Given the description of an element on the screen output the (x, y) to click on. 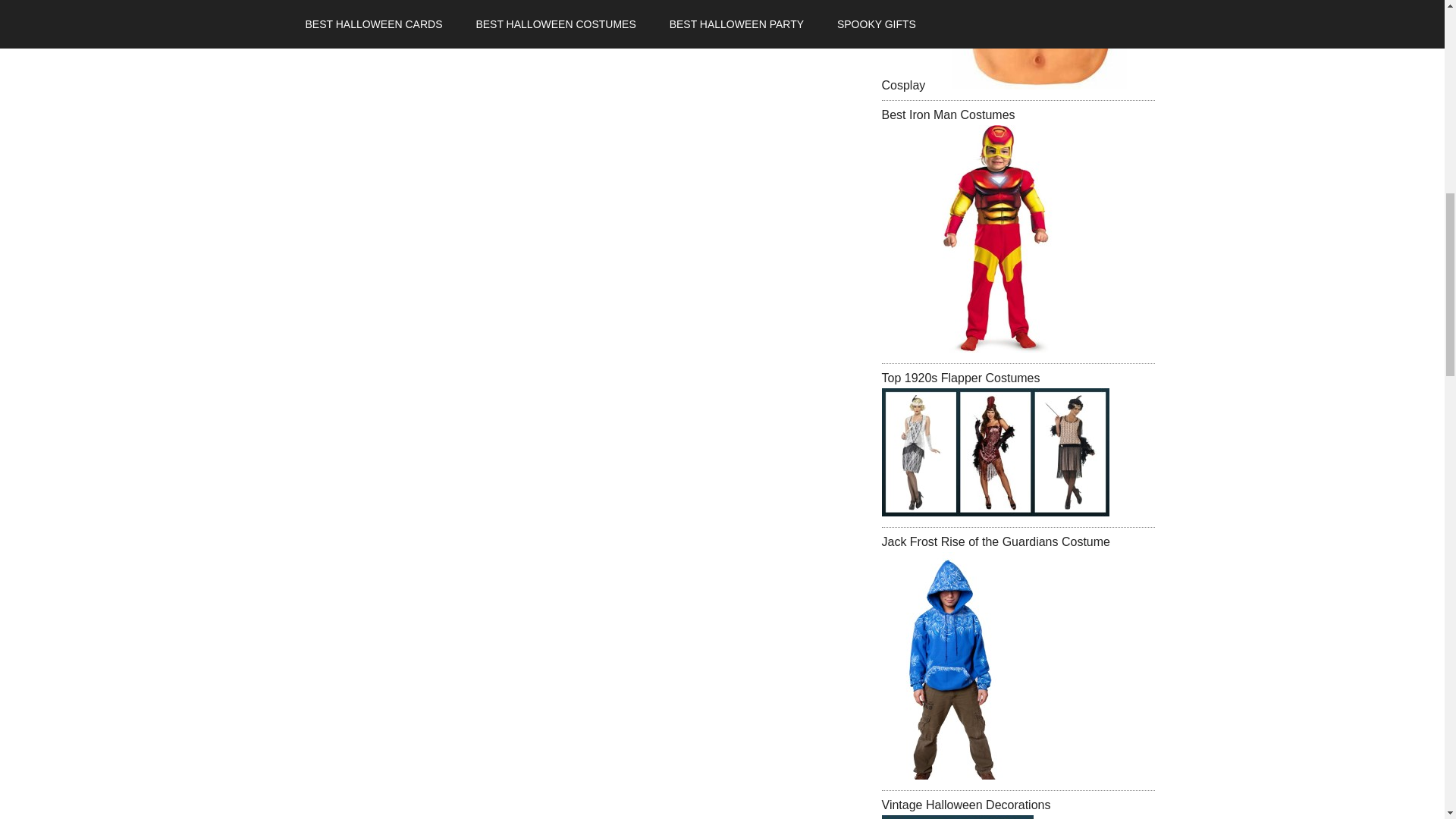
Top 1920s Flapper Costumes (959, 377)
Vintage Halloween Decorations (956, 816)
Top 1920s Flapper Costumes (994, 452)
Best Iron Man Costumes (947, 114)
Best Iron Man Costumes (994, 238)
